Given the description of an element on the screen output the (x, y) to click on. 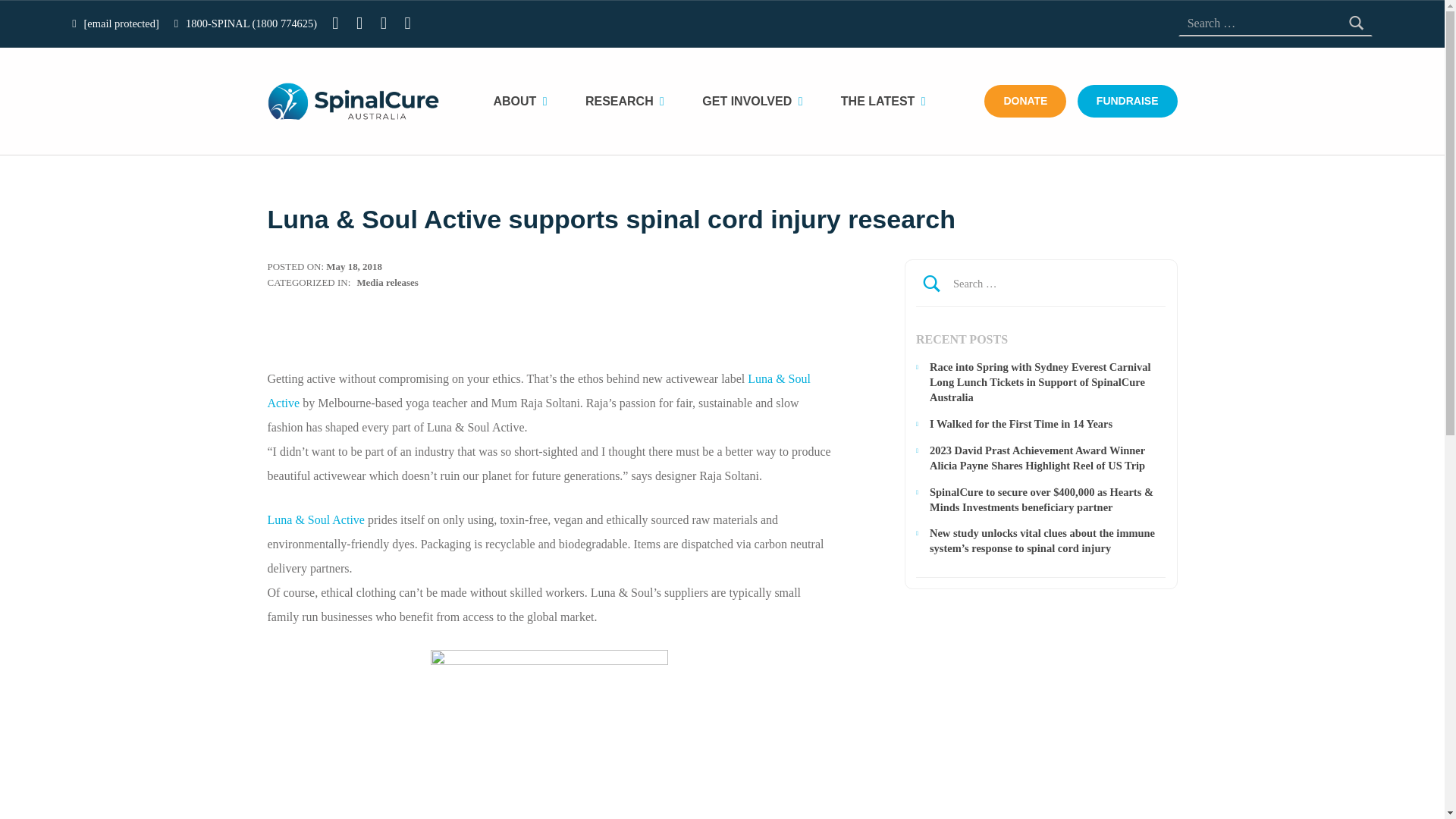
RESEARCH (635, 101)
Search (1150, 284)
ABOUT (530, 101)
Search (1150, 284)
